Given the description of an element on the screen output the (x, y) to click on. 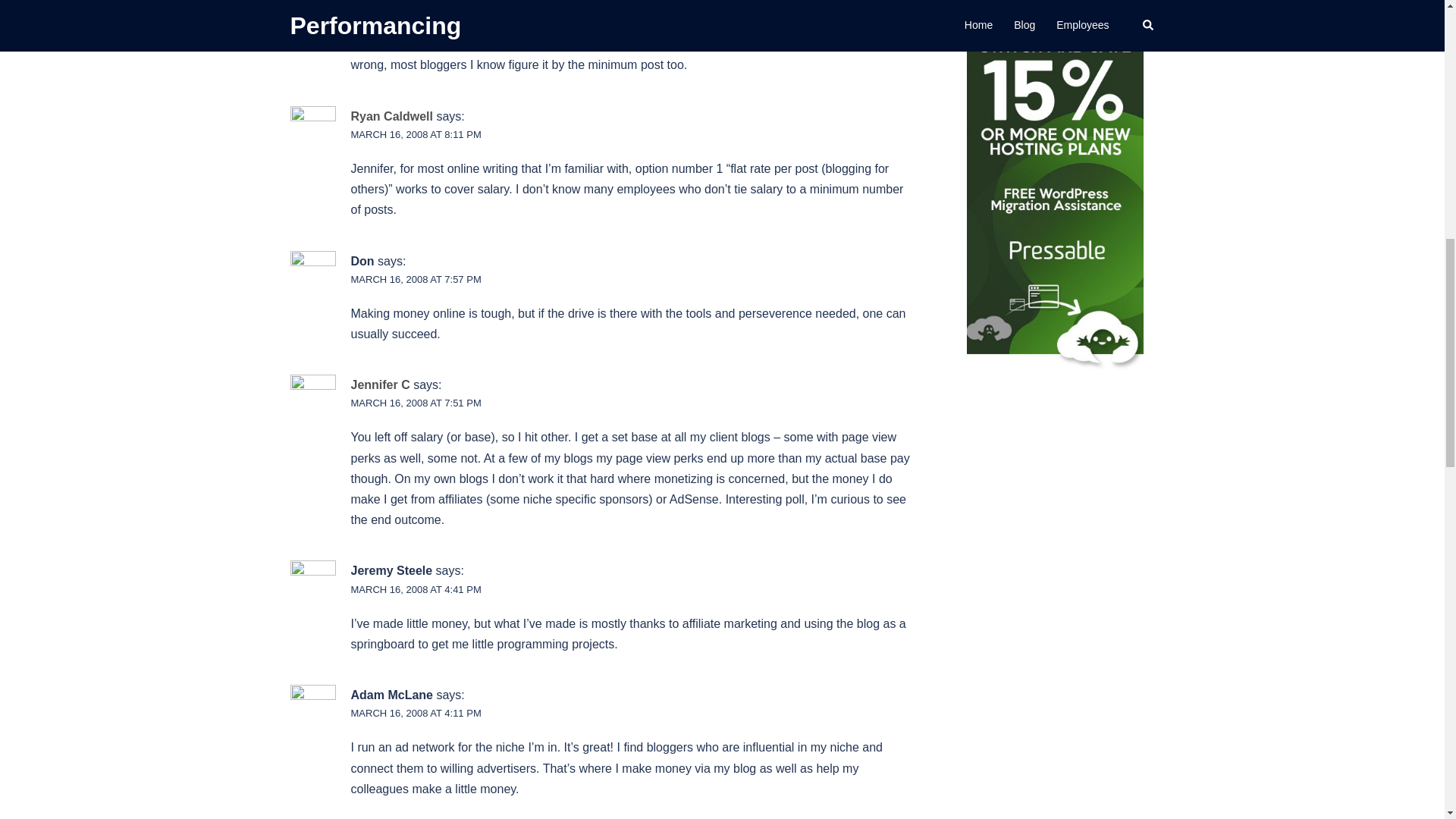
MARCH 16, 2008 AT 7:51 PM (415, 402)
Jeremy Steele (391, 570)
MARCH 16, 2008 AT 8:11 PM (415, 134)
Don (362, 260)
MARCH 16, 2008 AT 4:11 PM (415, 713)
Adam McLane (391, 694)
MARCH 16, 2008 AT 7:57 PM (415, 279)
MARCH 16, 2008 AT 4:41 PM (415, 589)
